Given the description of an element on the screen output the (x, y) to click on. 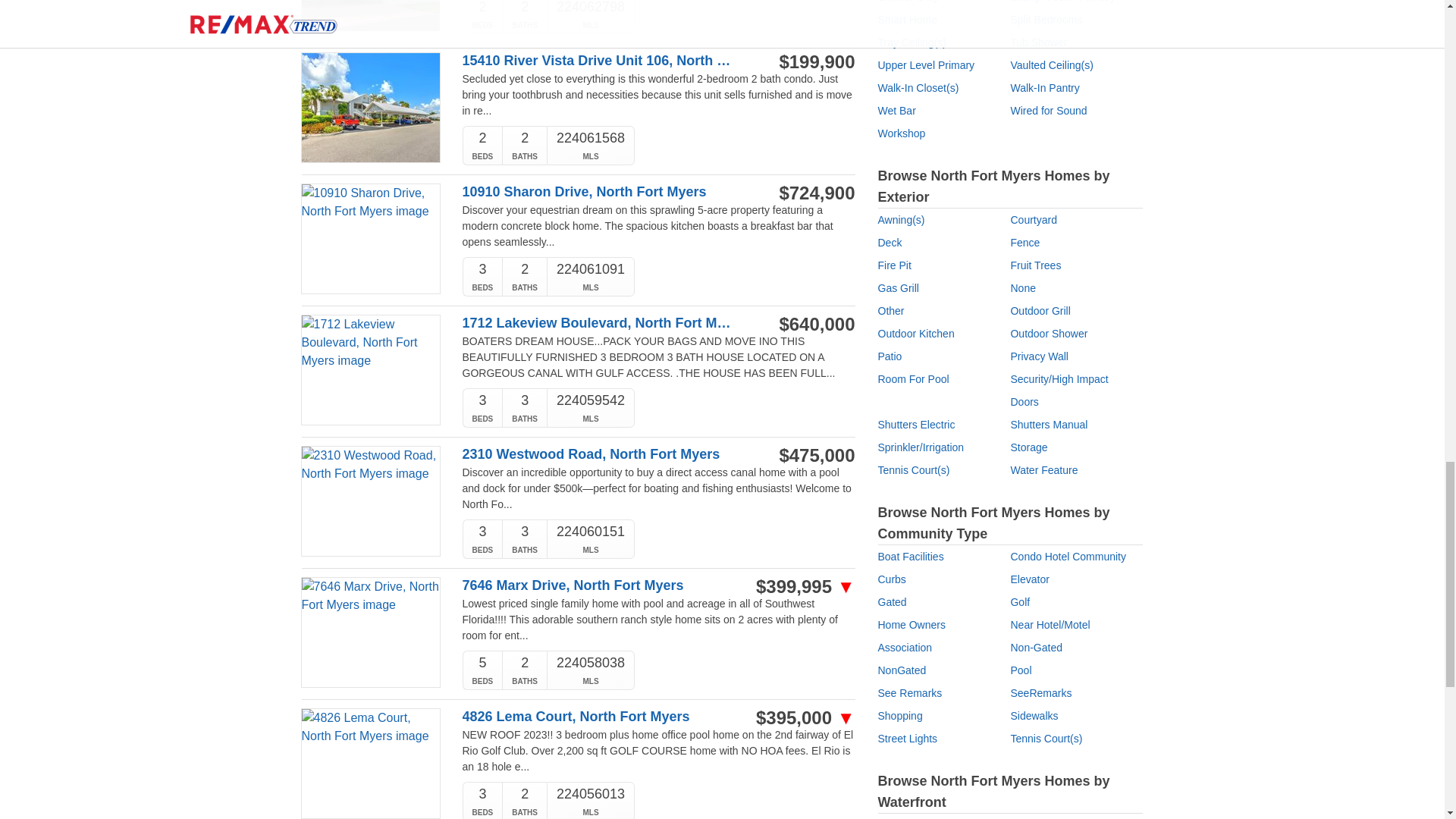
10910 Sharon Drive, North Fort Myers (600, 191)
15410 River Vista Drive Unit 106, North Fort Myers (600, 60)
1712 Lakeview Boulevard, North Fort Myers (600, 323)
